Given the description of an element on the screen output the (x, y) to click on. 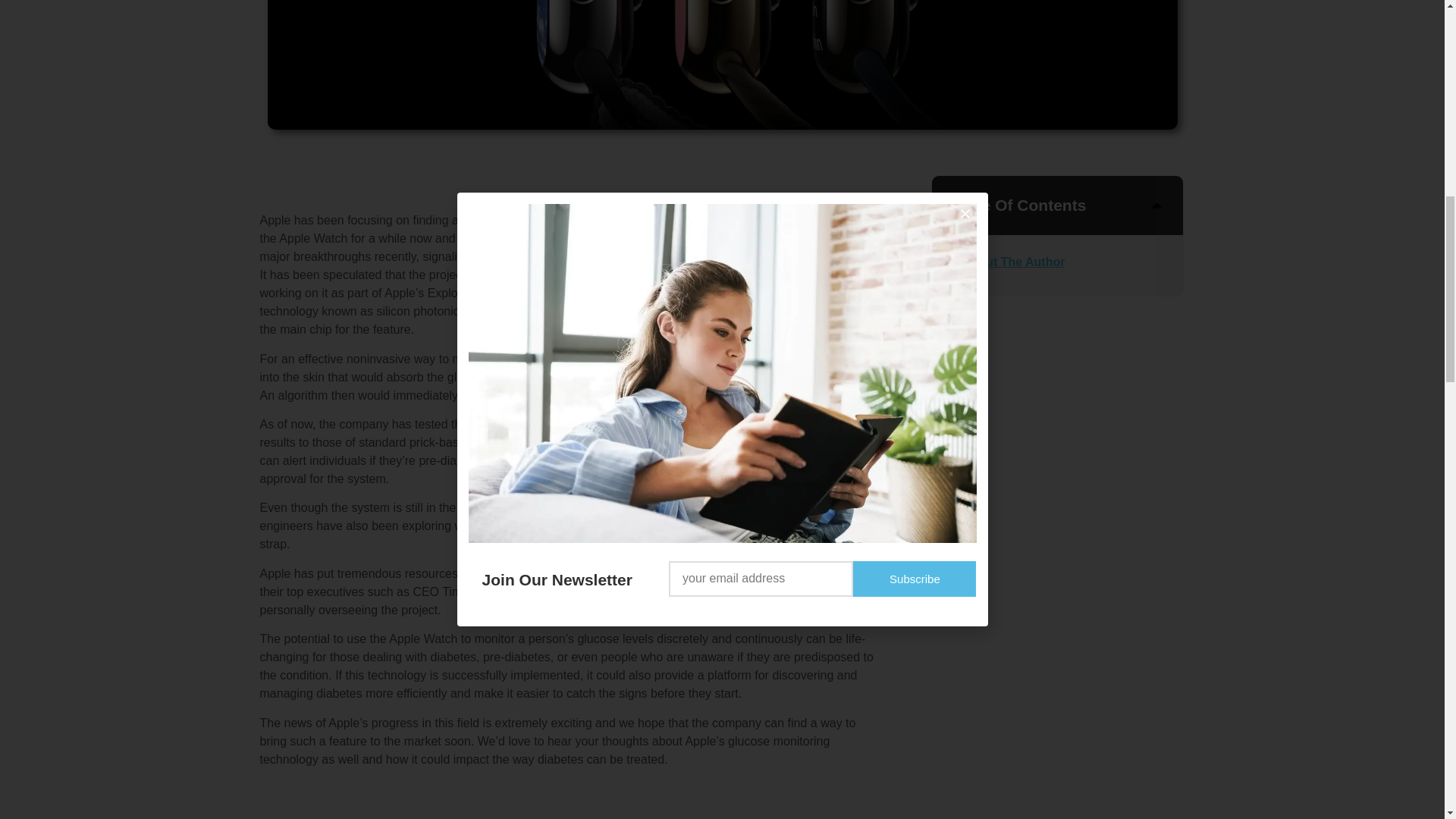
About The Author (1013, 262)
